Given the description of an element on the screen output the (x, y) to click on. 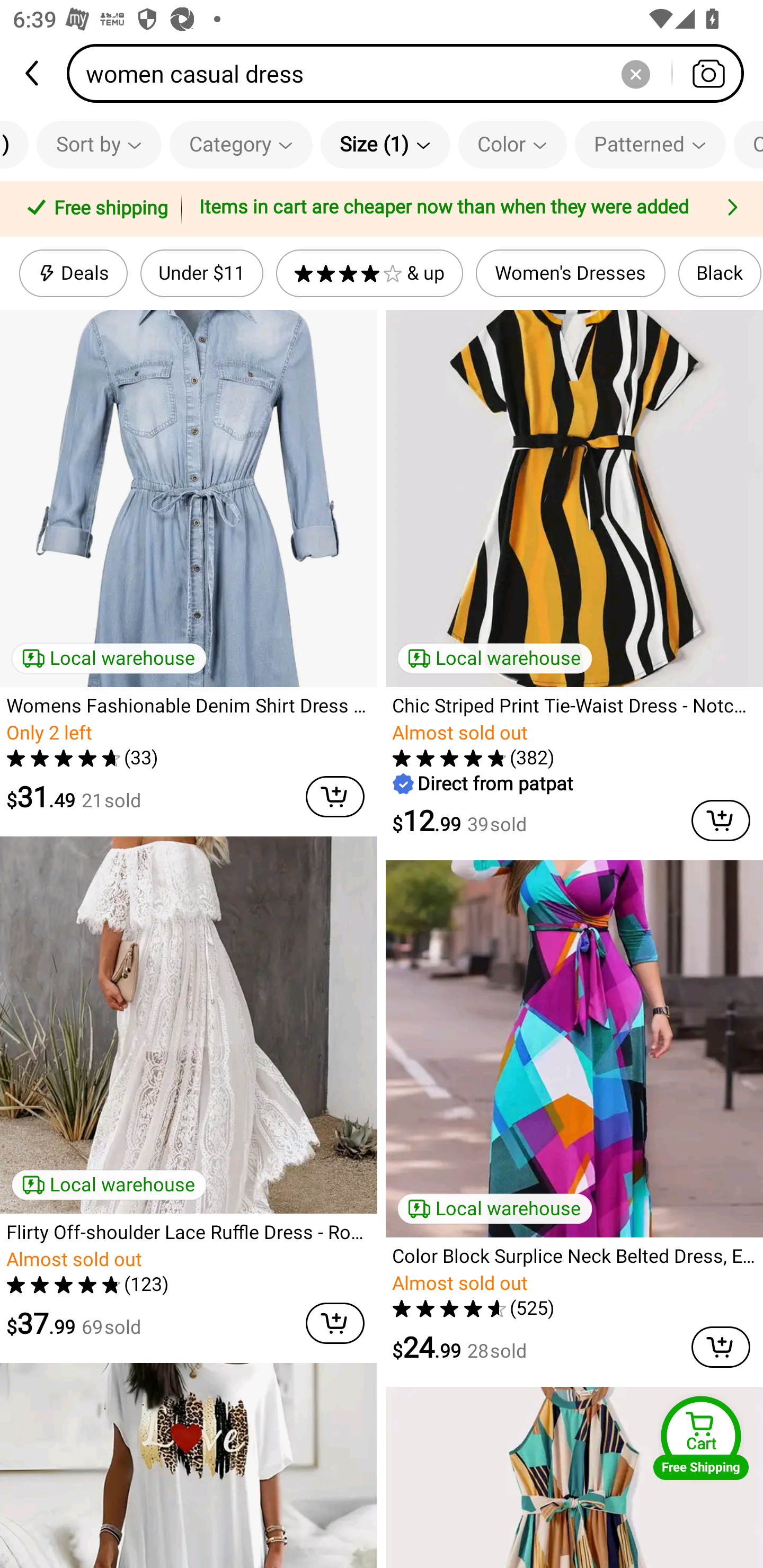
back (33, 72)
women casual dress (411, 73)
Delete search history (635, 73)
Search by photo (708, 73)
Sort by (98, 143)
Category (240, 143)
Size (1) (385, 143)
Color (512, 143)
Patterned (649, 143)
 Free shipping (93, 208)
Deals (73, 273)
Under $11 (201, 273)
& up (369, 273)
Women's Dresses (570, 273)
Black (719, 273)
cart delete (334, 796)
cart delete (720, 819)
cart delete (334, 1323)
cart delete (720, 1346)
Cart Free Shipping Cart (701, 1437)
